Given the description of an element on the screen output the (x, y) to click on. 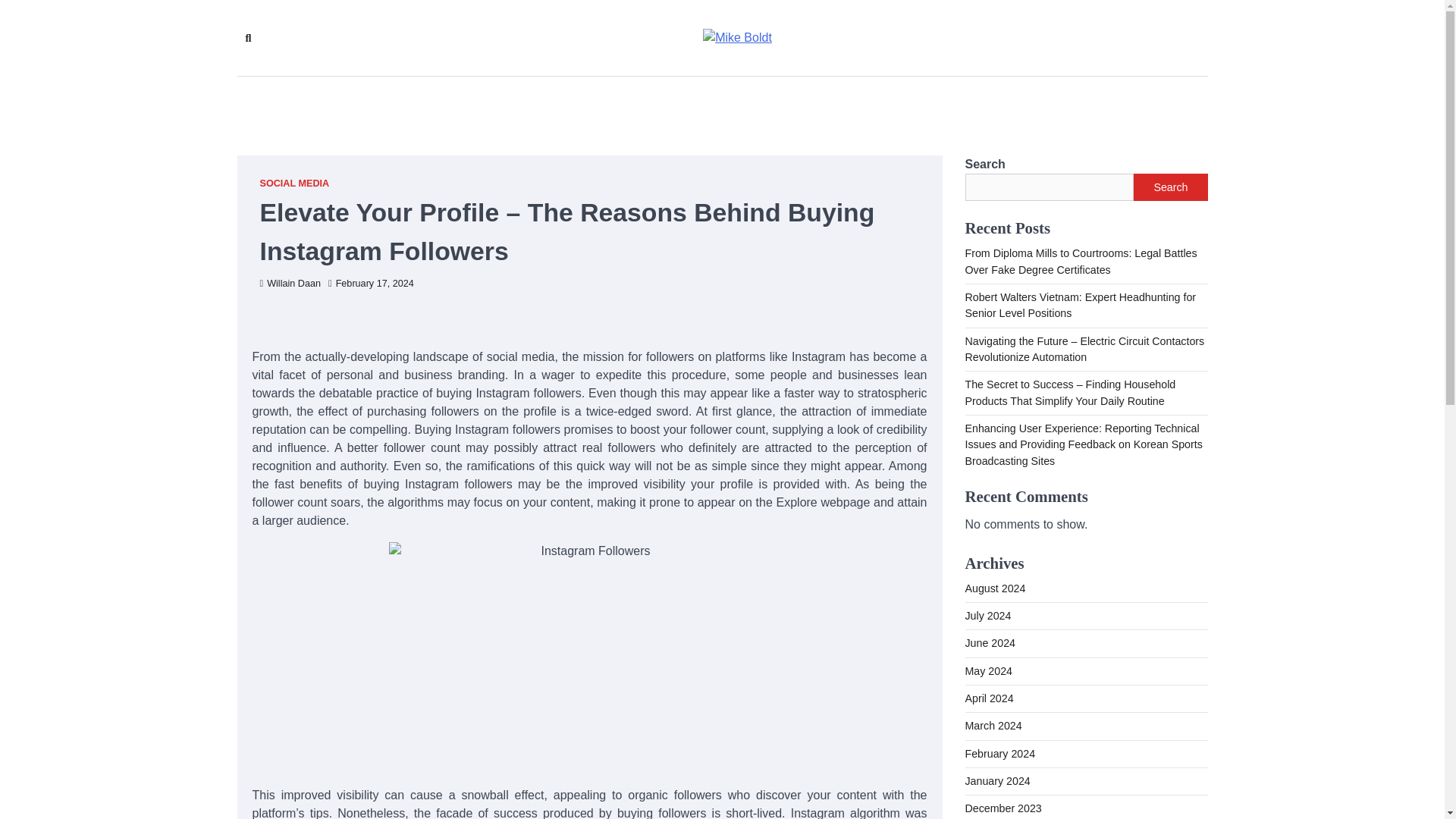
Search (443, 72)
February 17, 2024 (371, 283)
May 2024 (987, 671)
Search (1170, 186)
March 2024 (992, 725)
June 2024 (988, 643)
December 2023 (1002, 808)
